Given the description of an element on the screen output the (x, y) to click on. 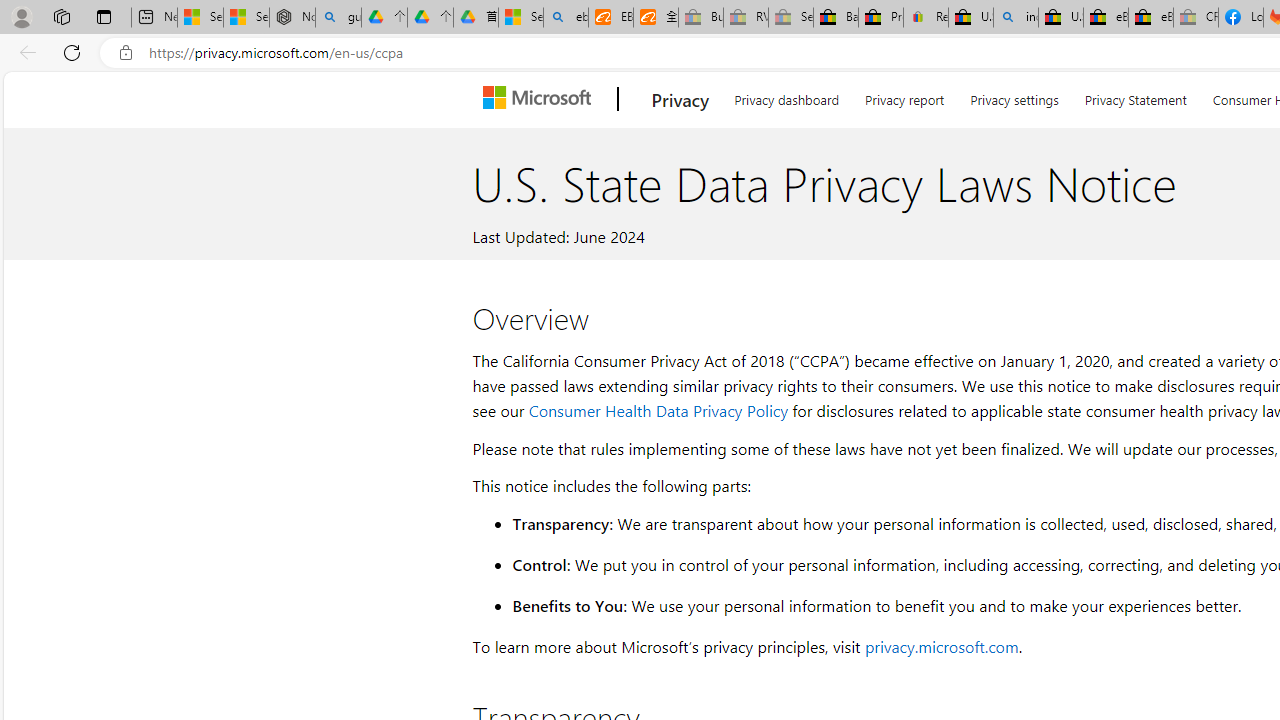
Log into Facebook (1240, 17)
Register: Create a personal eBay account (925, 17)
Consumer Health Data Privacy Policy (657, 410)
U.S. State Privacy Disclosures - eBay Inc. (1060, 17)
Microsoft (541, 99)
including - Search (1016, 17)
